Given the description of an element on the screen output the (x, y) to click on. 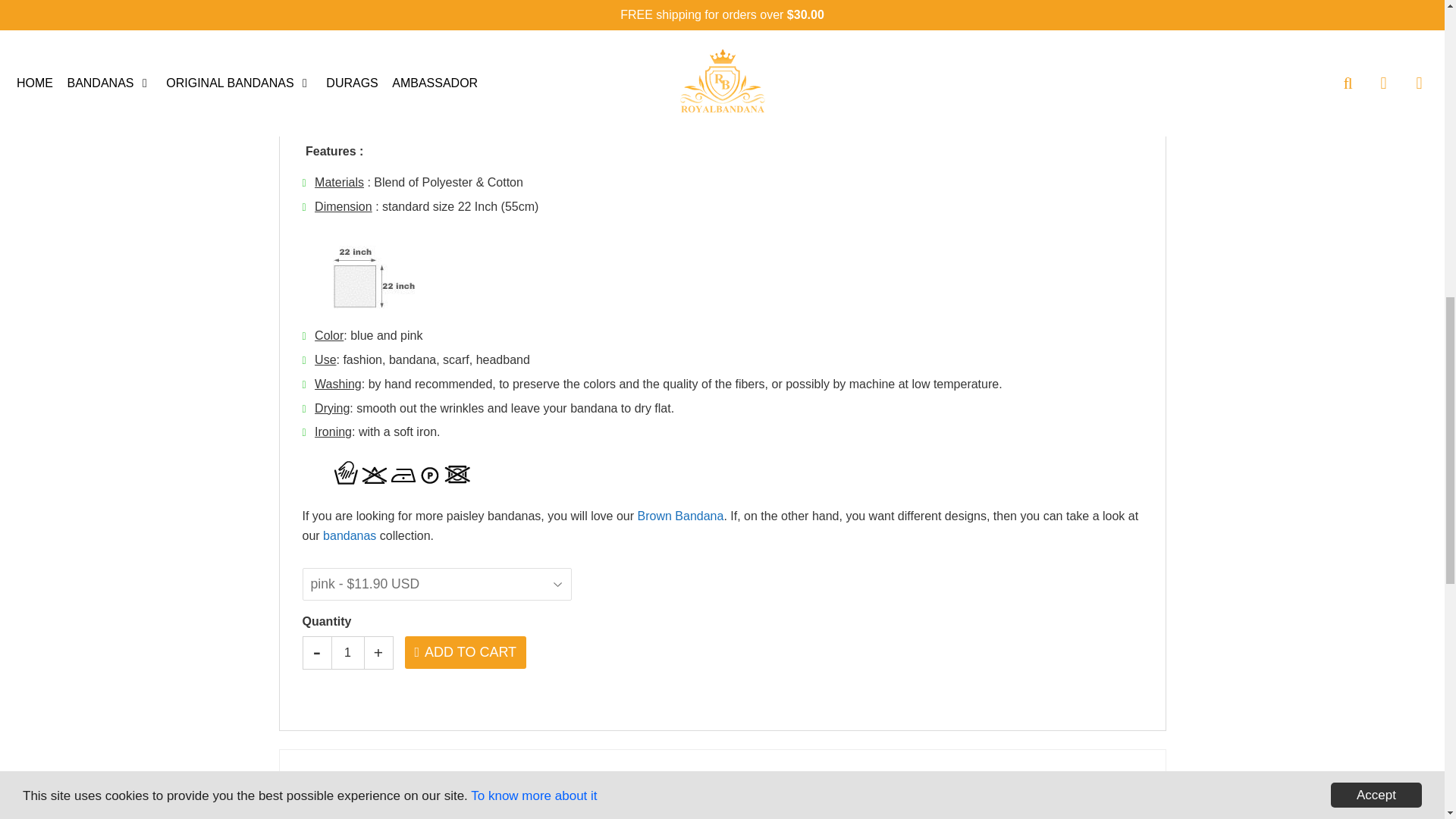
1 (347, 653)
brown-bandana (680, 515)
bandanas (349, 535)
